Given the description of an element on the screen output the (x, y) to click on. 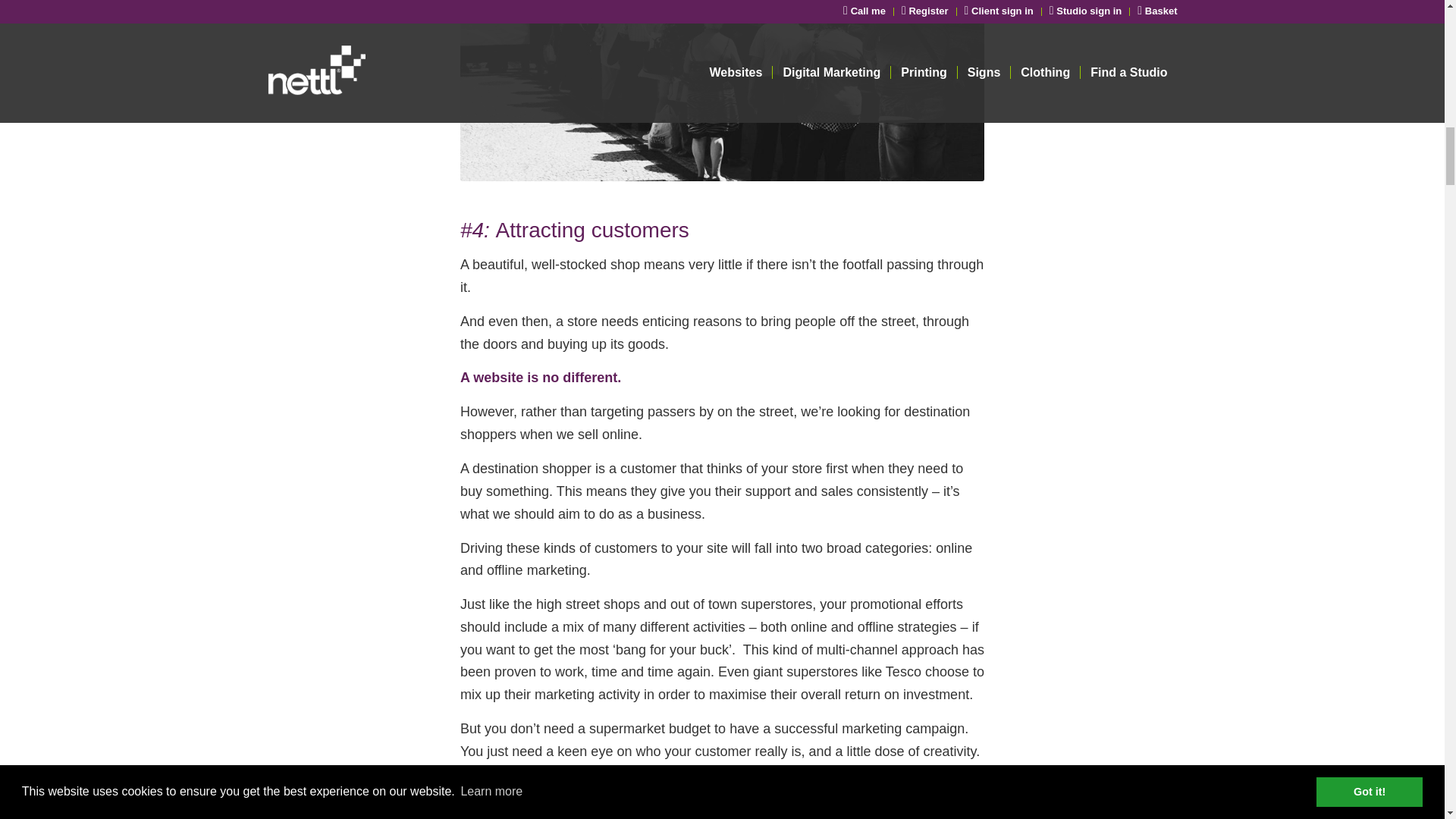
queue600 (722, 90)
